Given the description of an element on the screen output the (x, y) to click on. 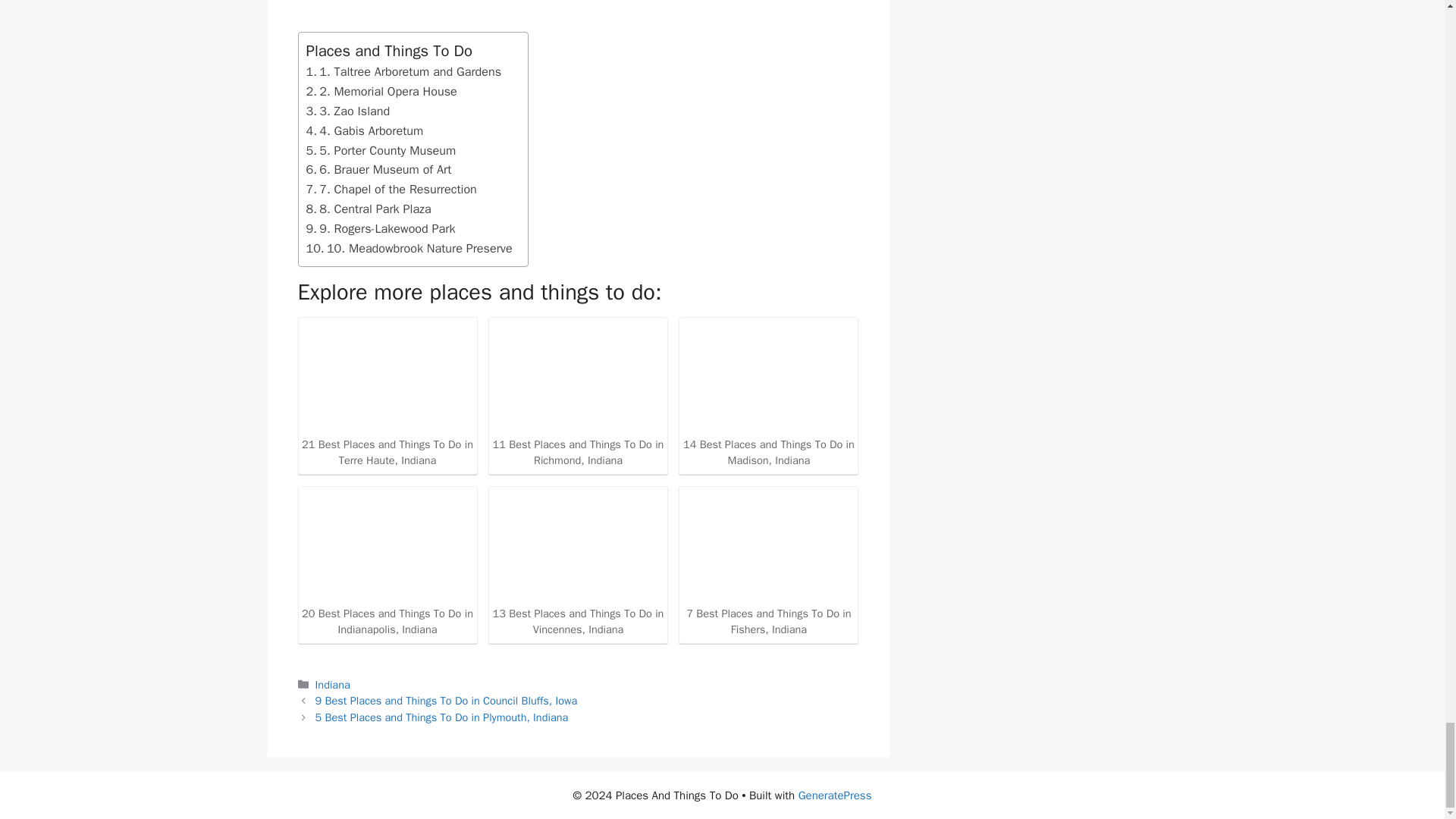
8. Central Park Plaza (367, 209)
Indiana (332, 684)
7. Chapel of the Resurrection (391, 189)
13 Best Places and Things To Do in Vincennes, Indiana (578, 563)
11 Best Places and Things To Do in Richmond, Indiana (578, 394)
9 Best Places and Things To Do in Council Bluffs, Iowa (446, 700)
21 Best Places and Things To Do in Terre Haute, Indiana (386, 394)
8. Central Park Plaza (367, 209)
5 Best Places and Things To Do in Plymouth, Indiana (442, 716)
21 Best Places and Things To Do in Terre Haute, Indiana (387, 377)
